Given the description of an element on the screen output the (x, y) to click on. 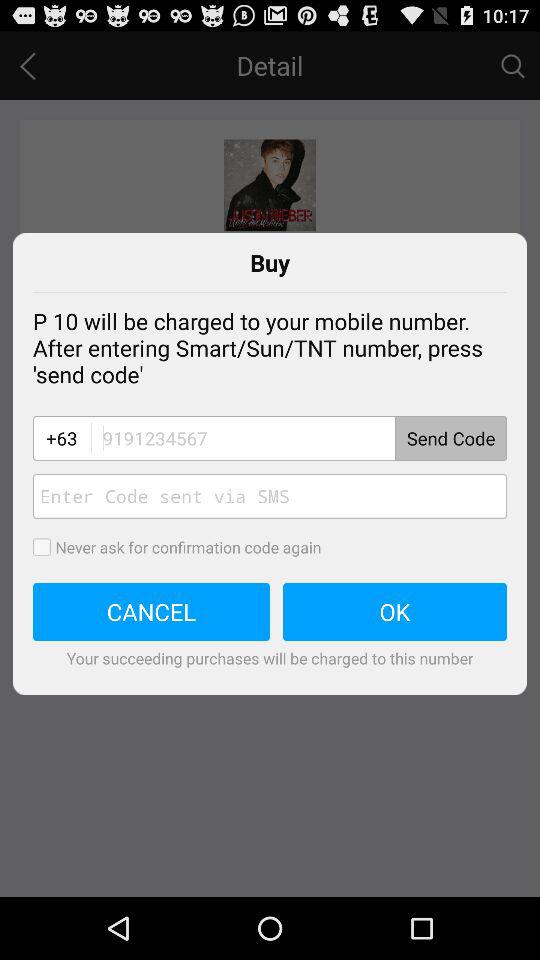
launch the icon above the your succeeding purchases app (395, 611)
